Given the description of an element on the screen output the (x, y) to click on. 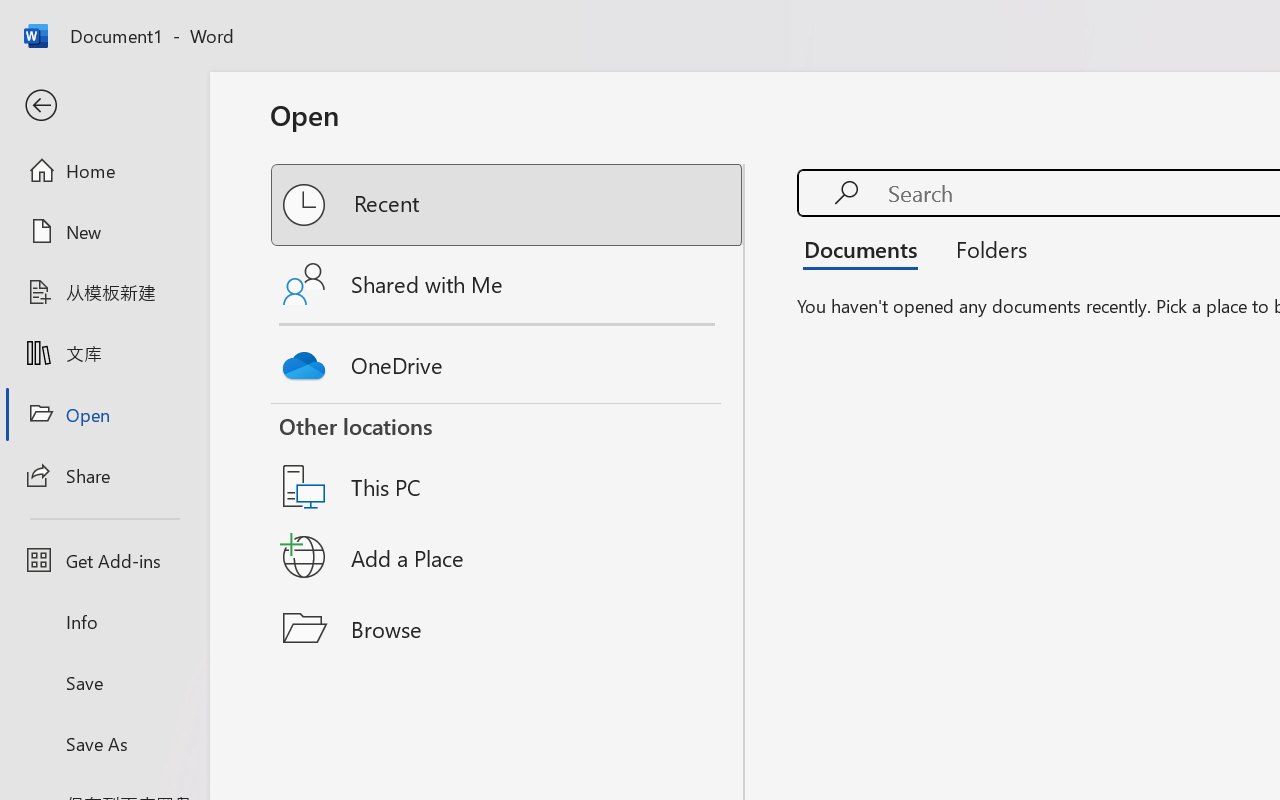
Info (104, 621)
Save As (104, 743)
Back (104, 106)
